Given the description of an element on the screen output the (x, y) to click on. 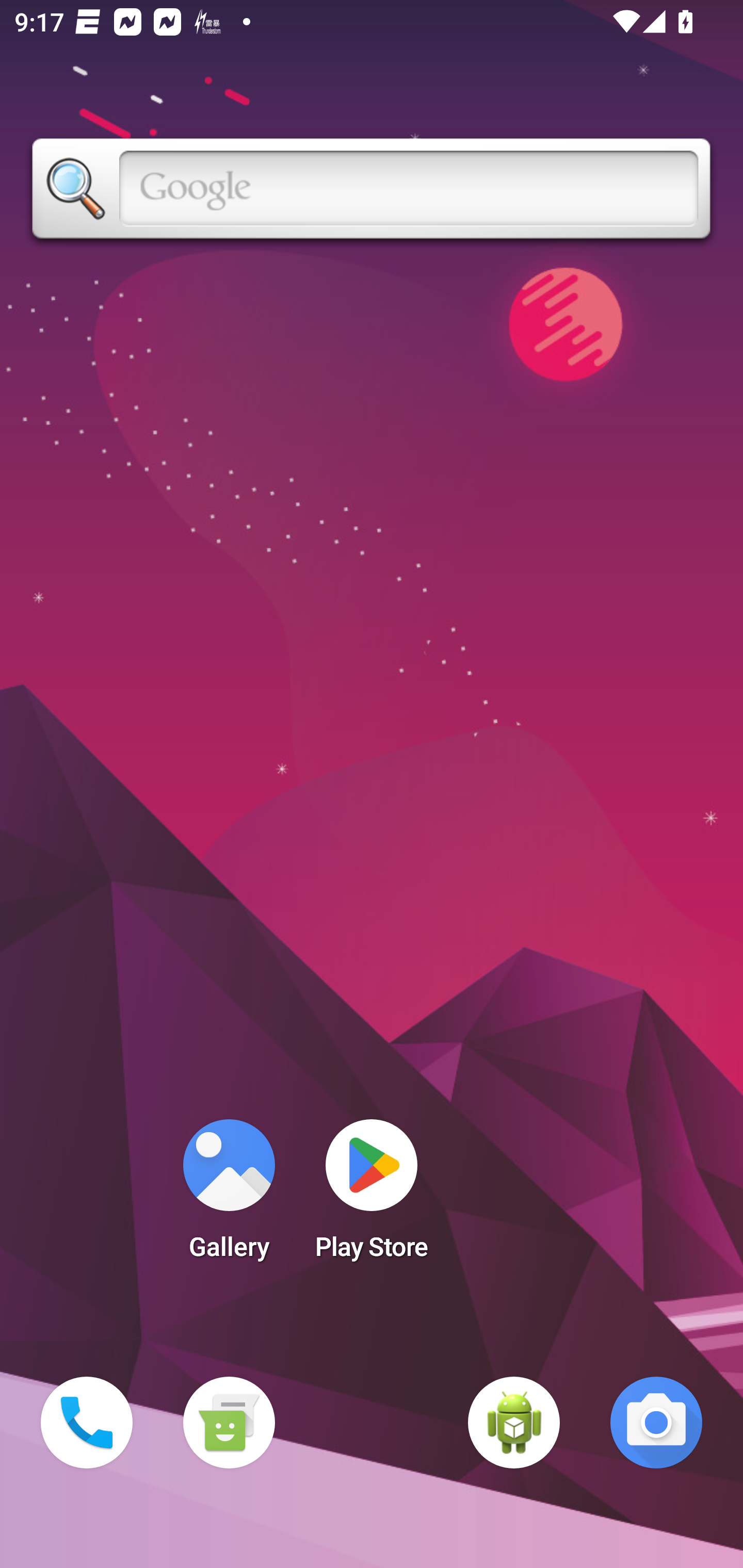
Gallery (228, 1195)
Play Store (371, 1195)
Phone (86, 1422)
Messaging (228, 1422)
WebView Browser Tester (513, 1422)
Camera (656, 1422)
